Given the description of an element on the screen output the (x, y) to click on. 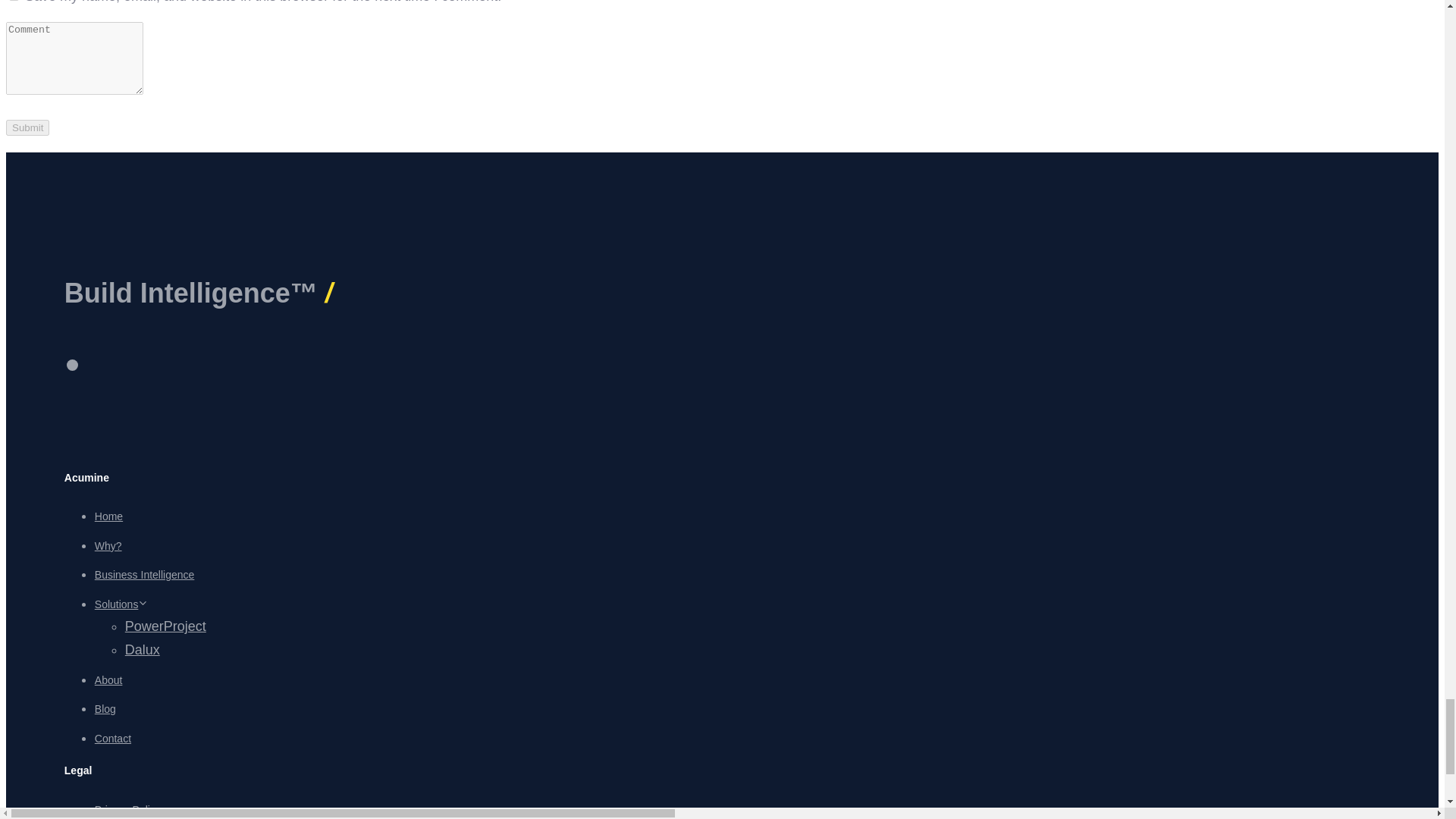
Submit (27, 127)
